Given the description of an element on the screen output the (x, y) to click on. 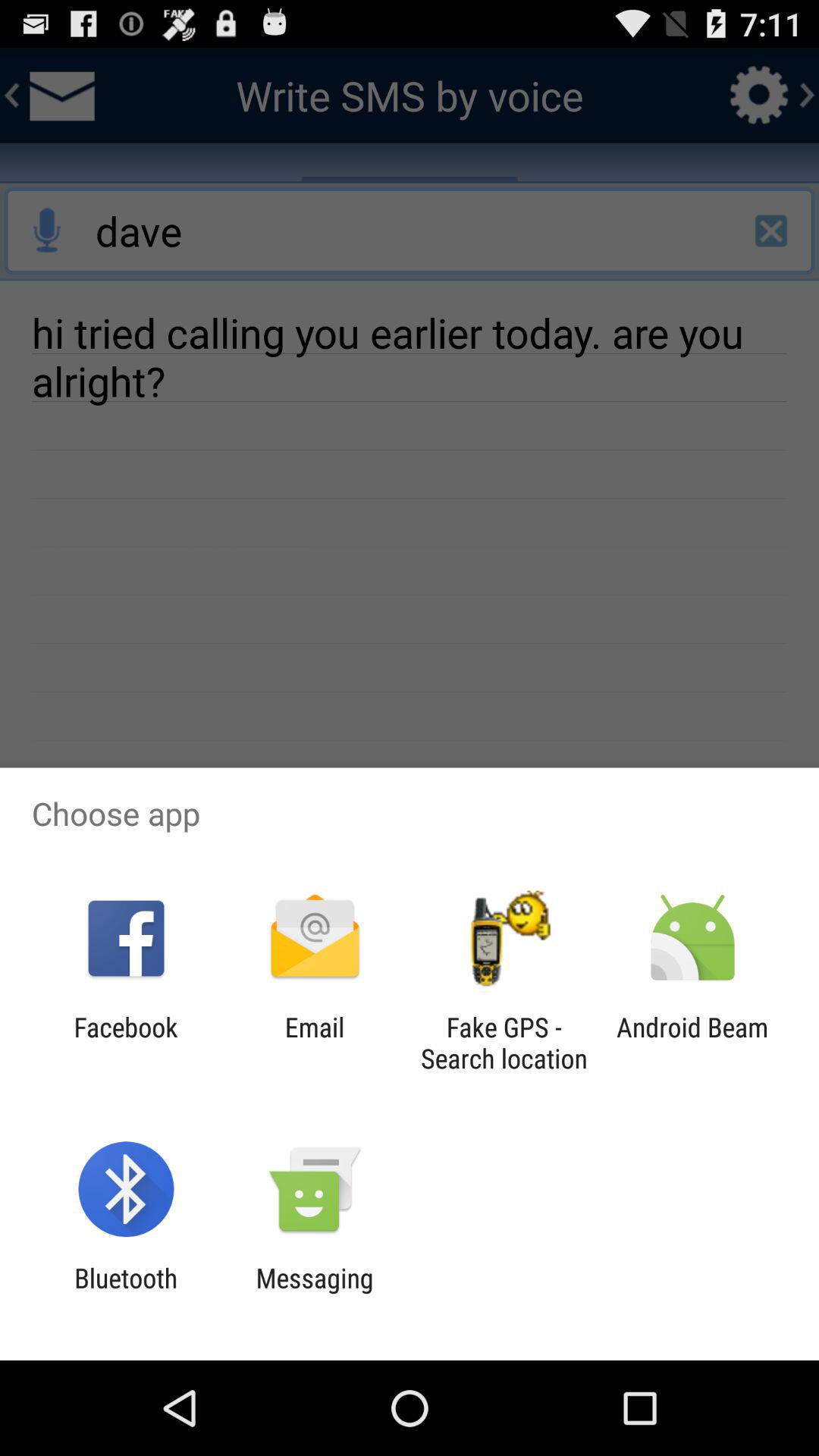
tap the messaging app (314, 1293)
